Given the description of an element on the screen output the (x, y) to click on. 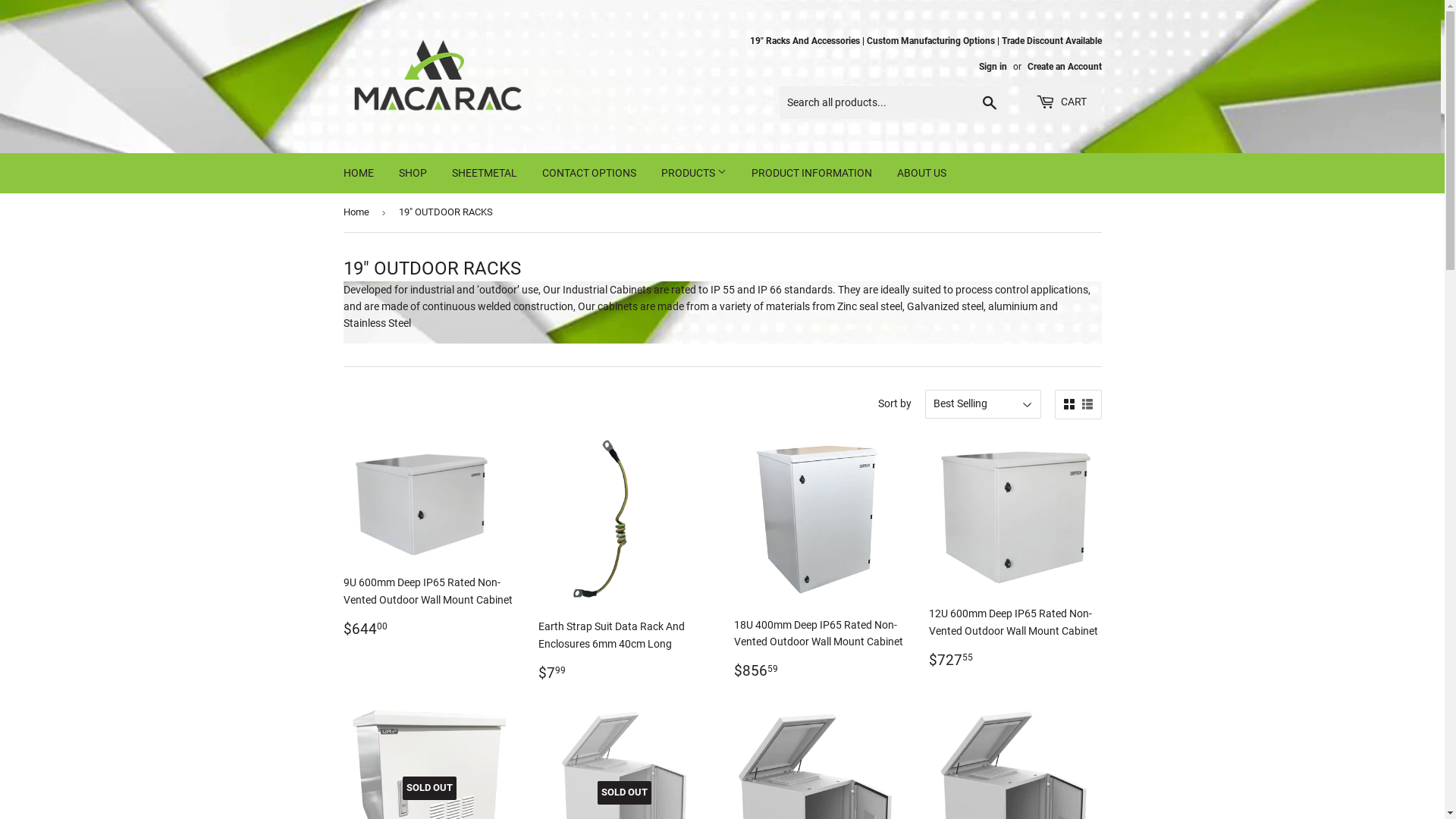
CONTACT OPTIONS Element type: text (588, 172)
Search Element type: text (989, 103)
SHEETMETAL Element type: text (483, 172)
CART Element type: text (1060, 102)
ABOUT US Element type: text (921, 172)
List view Element type: hover (1086, 404)
PRODUCT INFORMATION Element type: text (811, 172)
Create an Account Element type: text (1063, 66)
Home Element type: text (357, 212)
HOME Element type: text (358, 172)
Sign in Element type: text (992, 66)
Grid view Element type: hover (1068, 404)
PRODUCTS Element type: text (693, 172)
SHOP Element type: text (411, 172)
